Given the description of an element on the screen output the (x, y) to click on. 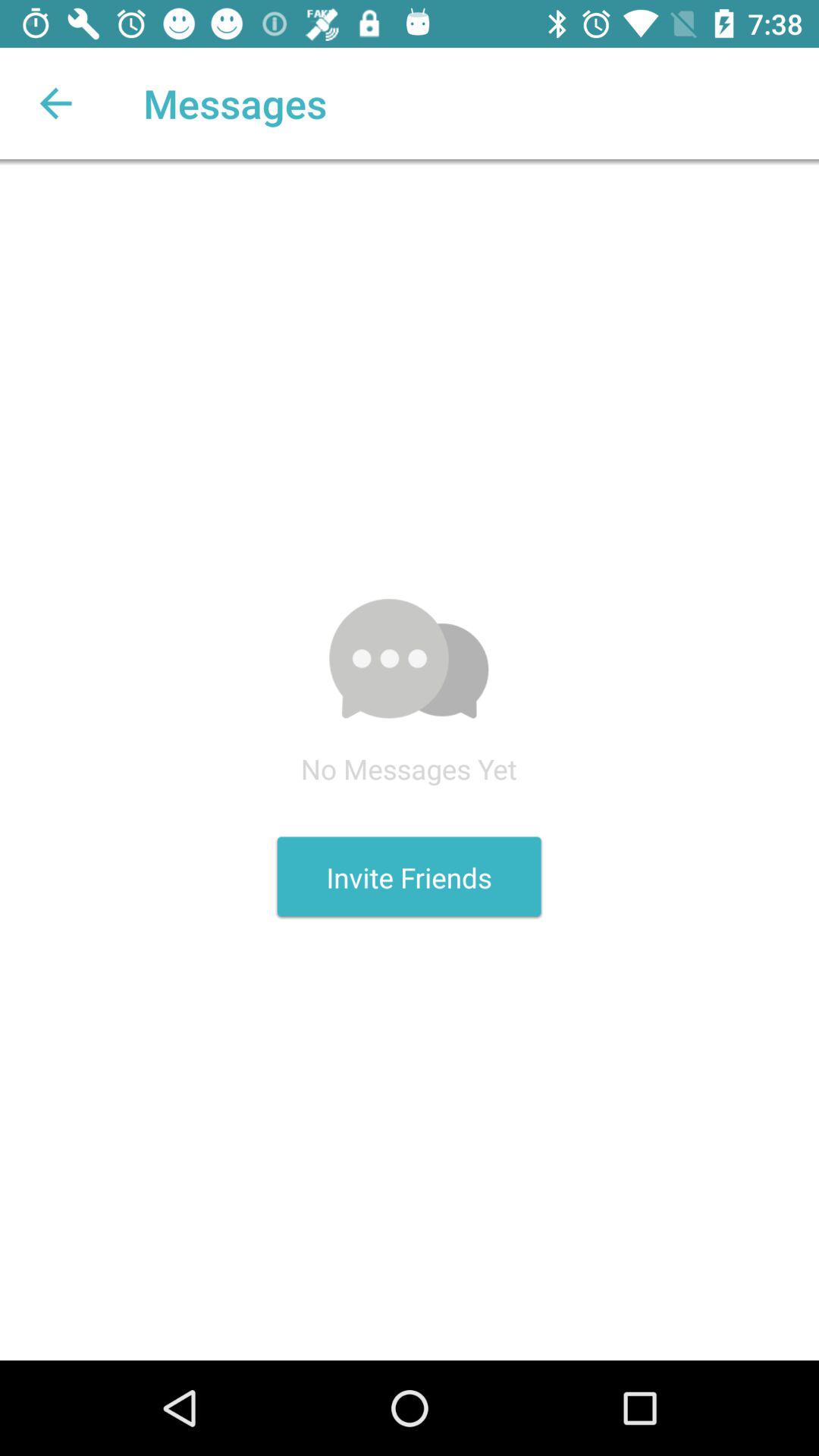
choose the invite friends icon (408, 877)
